Given the description of an element on the screen output the (x, y) to click on. 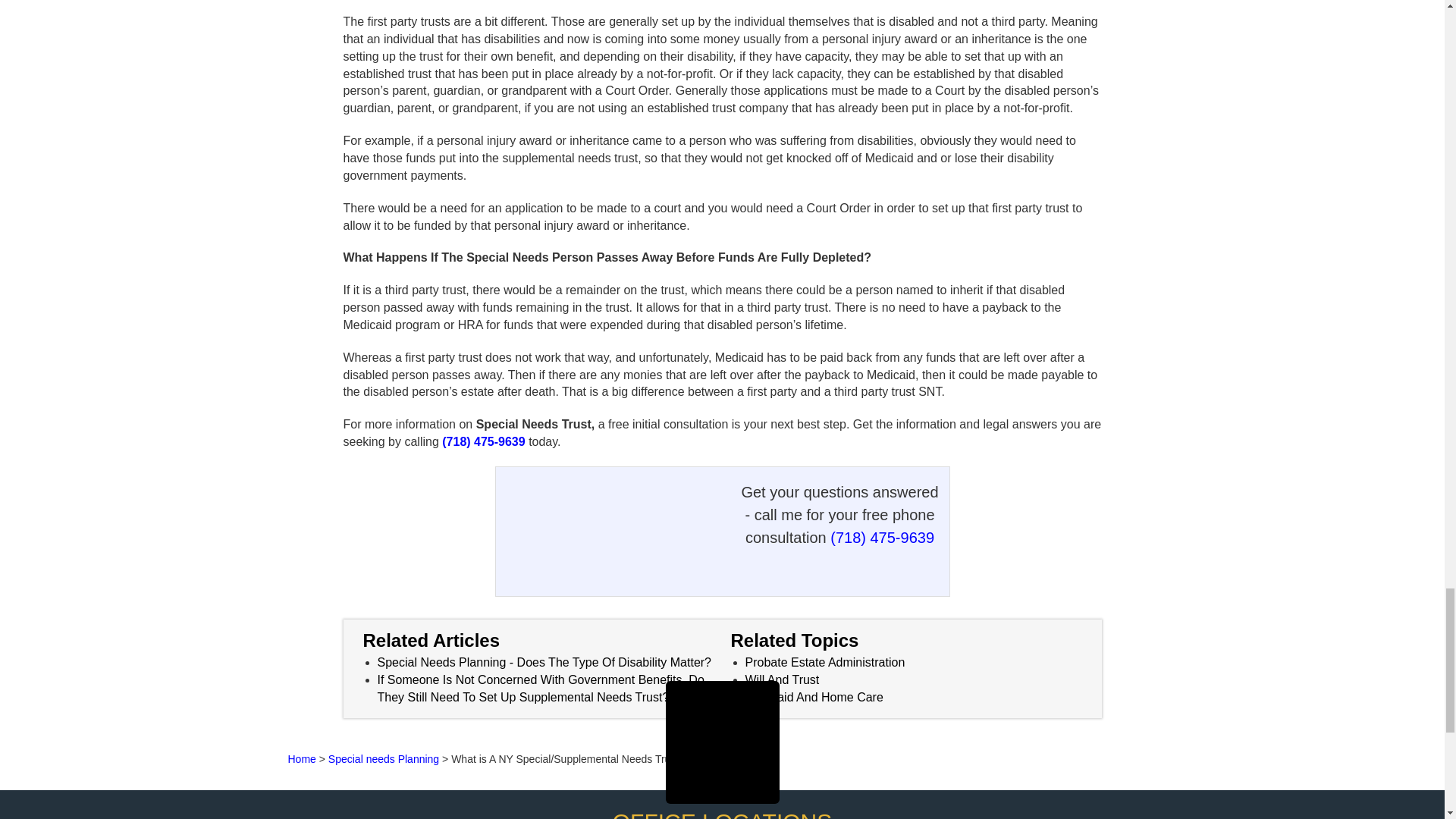
Go to Michael Camporeale. (301, 758)
Go to Special needs Planning. (384, 758)
Special Needs Planning - Does The Type Of Disability Matter? (544, 662)
